Given the description of an element on the screen output the (x, y) to click on. 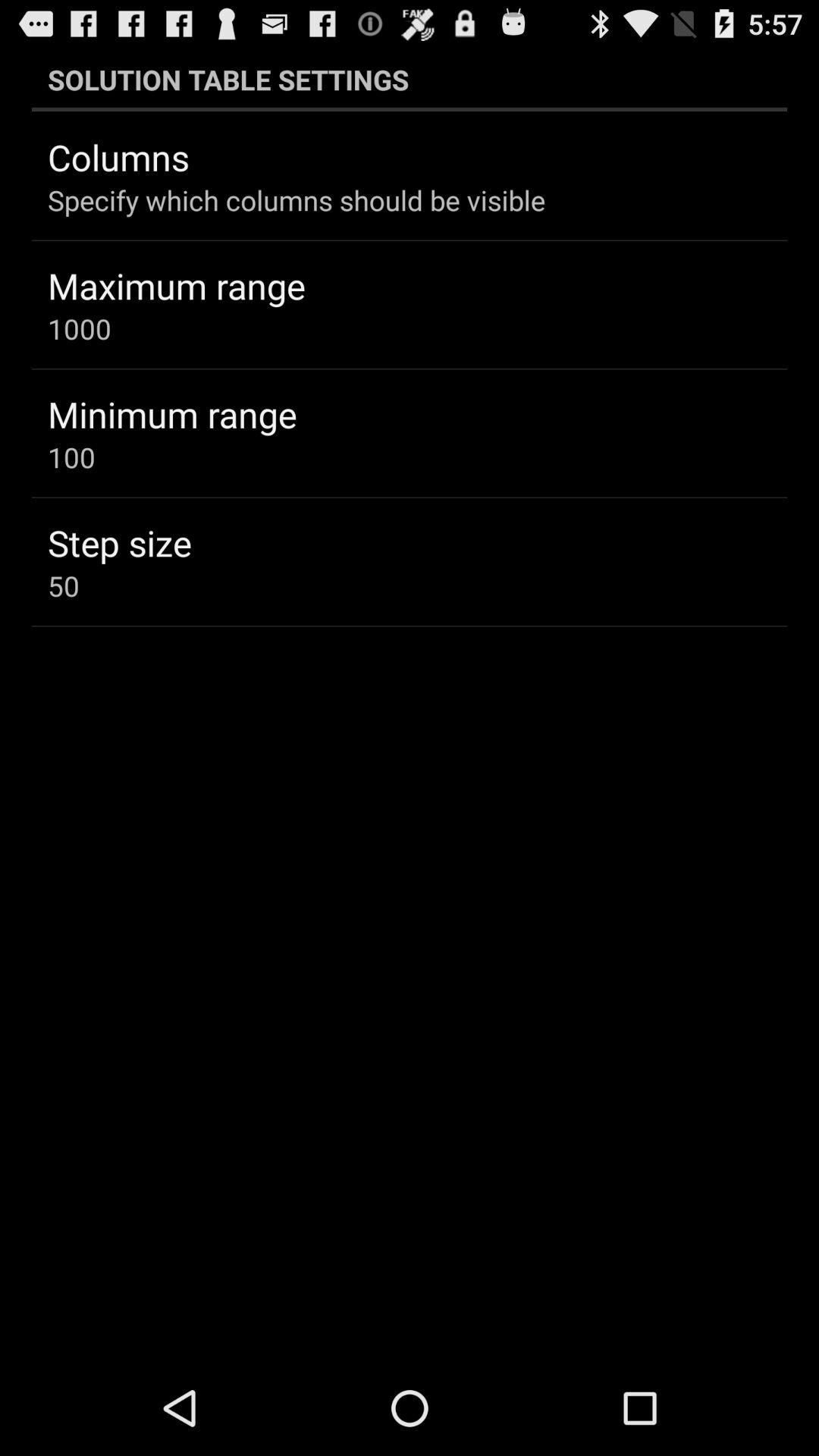
open app above 1000 (176, 285)
